Given the description of an element on the screen output the (x, y) to click on. 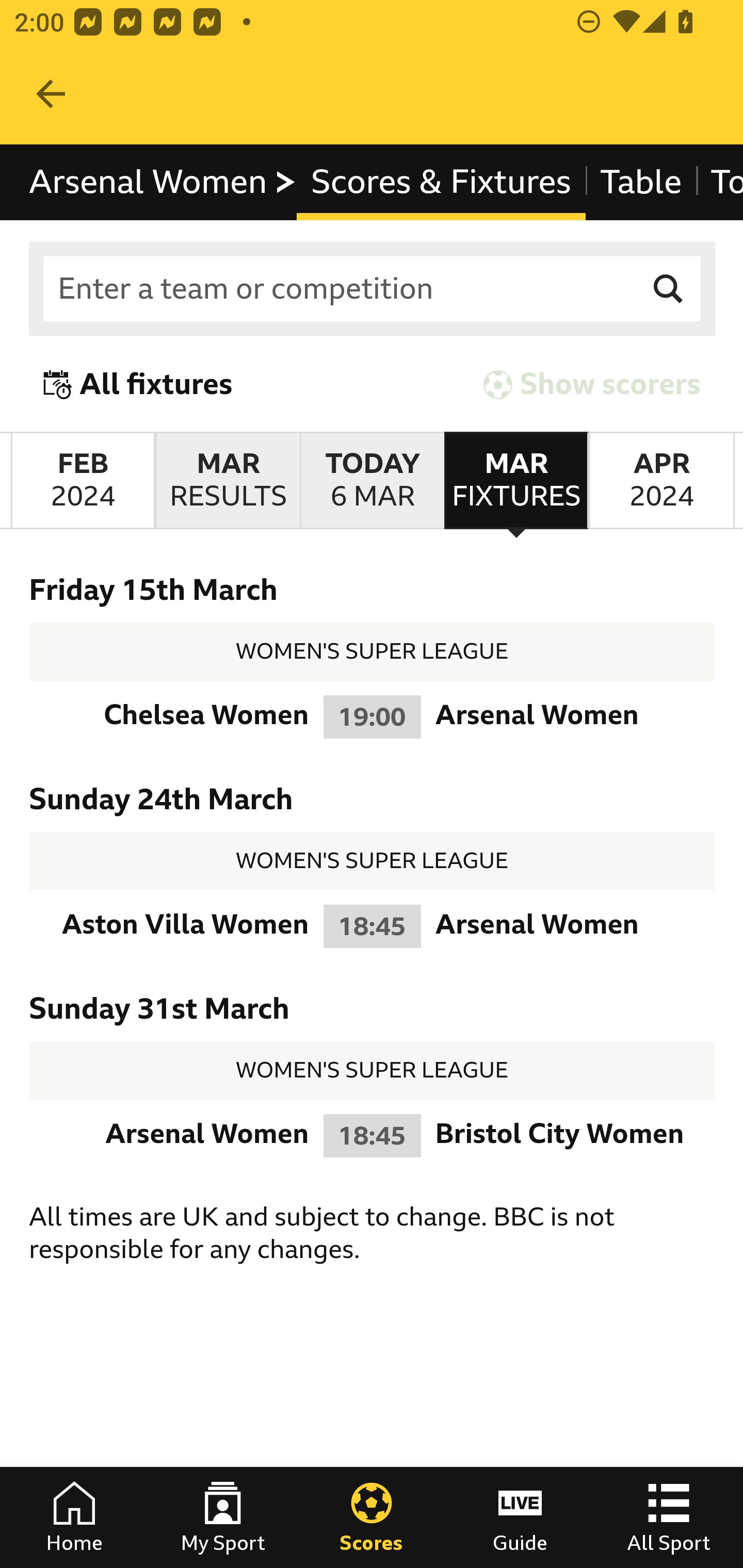
Navigate up (50, 93)
Arsenal Women  (162, 181)
Scores & Fixtures (441, 181)
Table (640, 181)
Search (669, 289)
All fixtures (137, 383)
Show scorers (591, 383)
February2024 February 2024 (83, 480)
MarchRESULTS March RESULTS (227, 480)
TodayMarch 6th Today March 6th (372, 480)
MarchFIXTURES, Selected March FIXTURES , Selected (516, 480)
April2024 April 2024 (661, 480)
Home (74, 1517)
My Sport (222, 1517)
Guide (519, 1517)
All Sport (668, 1517)
